Given the description of an element on the screen output the (x, y) to click on. 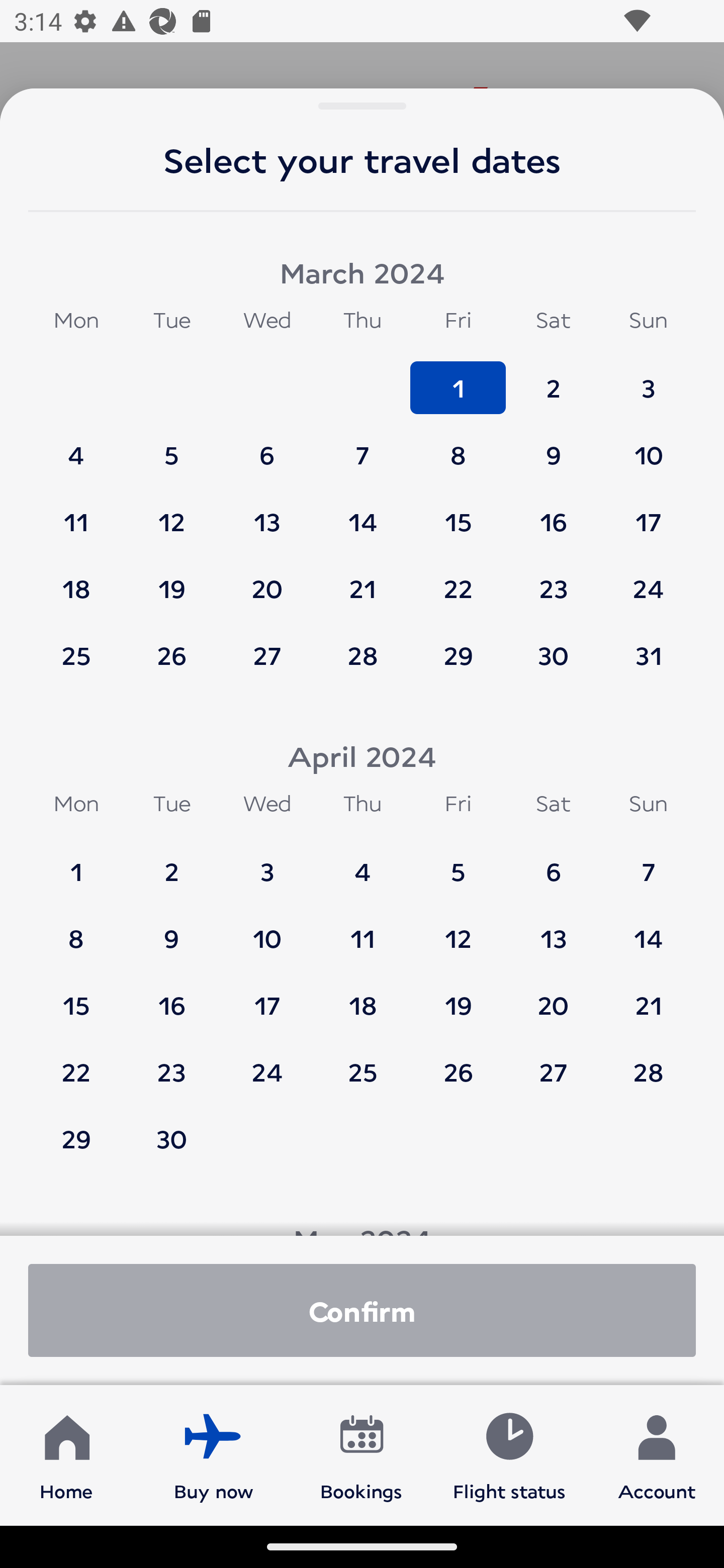
1 (458, 379)
2 (553, 379)
3 (647, 379)
4 (75, 445)
5 (171, 445)
6 (266, 445)
7 (362, 445)
8 (458, 445)
9 (553, 445)
10 (647, 445)
11 (75, 512)
12 (171, 512)
13 (266, 512)
14 (362, 512)
15 (458, 512)
16 (553, 512)
17 (647, 512)
18 (75, 579)
19 (171, 579)
20 (266, 579)
21 (362, 579)
22 (458, 579)
23 (553, 579)
24 (647, 579)
25 (75, 655)
26 (171, 655)
27 (266, 655)
28 (362, 655)
29 (458, 655)
30 (553, 655)
31 (647, 655)
1 (75, 862)
2 (171, 862)
3 (266, 862)
4 (362, 862)
5 (458, 862)
6 (553, 862)
7 (647, 862)
8 (75, 928)
9 (171, 928)
10 (266, 928)
11 (362, 928)
12 (458, 928)
13 (553, 928)
14 (647, 928)
15 (75, 996)
16 (171, 996)
17 (266, 996)
18 (362, 996)
19 (458, 996)
20 (553, 996)
21 (647, 996)
22 (75, 1063)
23 (171, 1063)
24 (266, 1063)
25 (362, 1063)
26 (458, 1063)
27 (553, 1063)
28 (647, 1063)
29 (75, 1138)
30 (171, 1138)
Confirm (361, 1309)
Home (66, 1454)
Bookings (361, 1454)
Flight status (509, 1454)
Account (657, 1454)
